Given the description of an element on the screen output the (x, y) to click on. 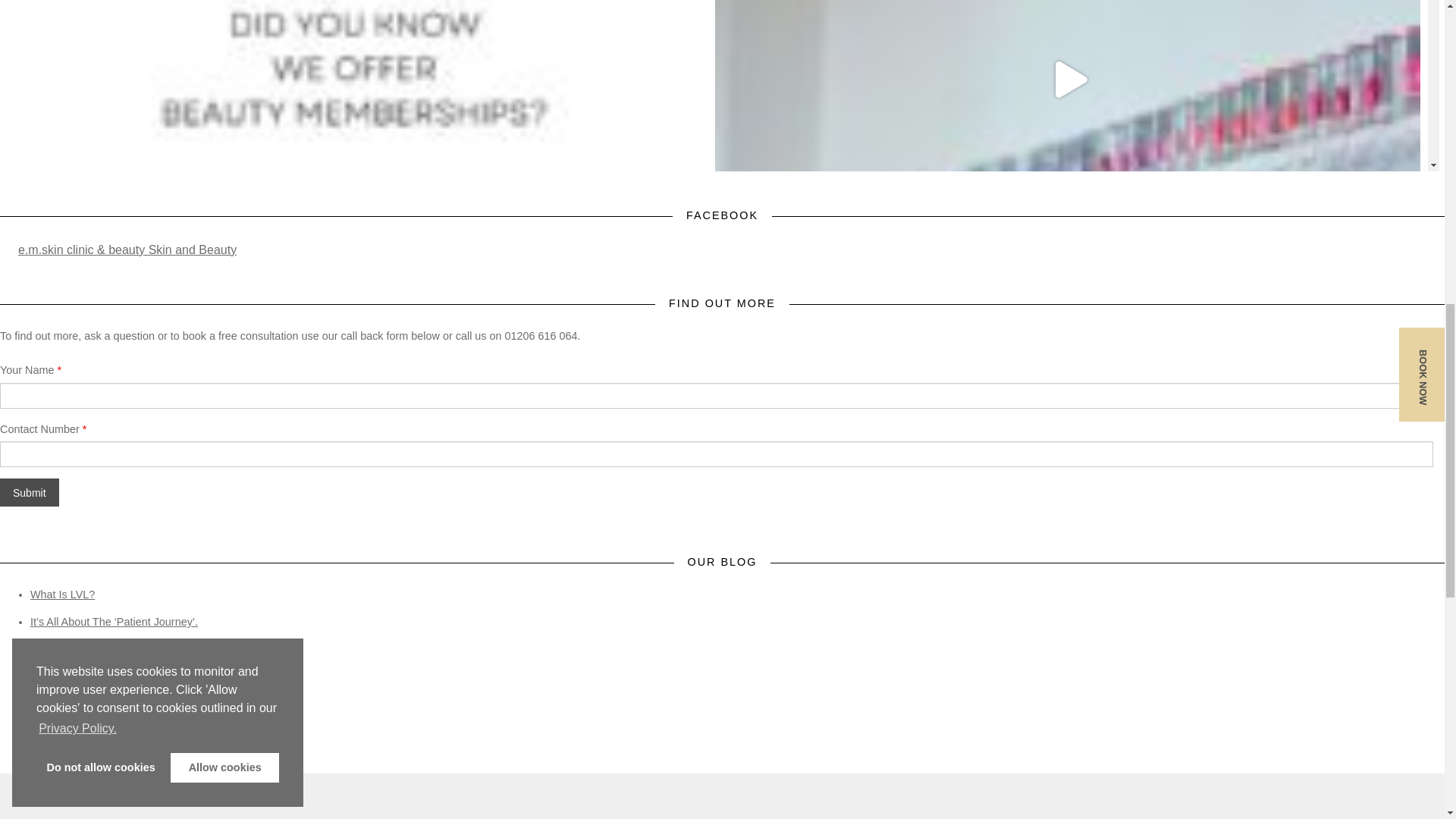
Submit (29, 492)
